Given the description of an element on the screen output the (x, y) to click on. 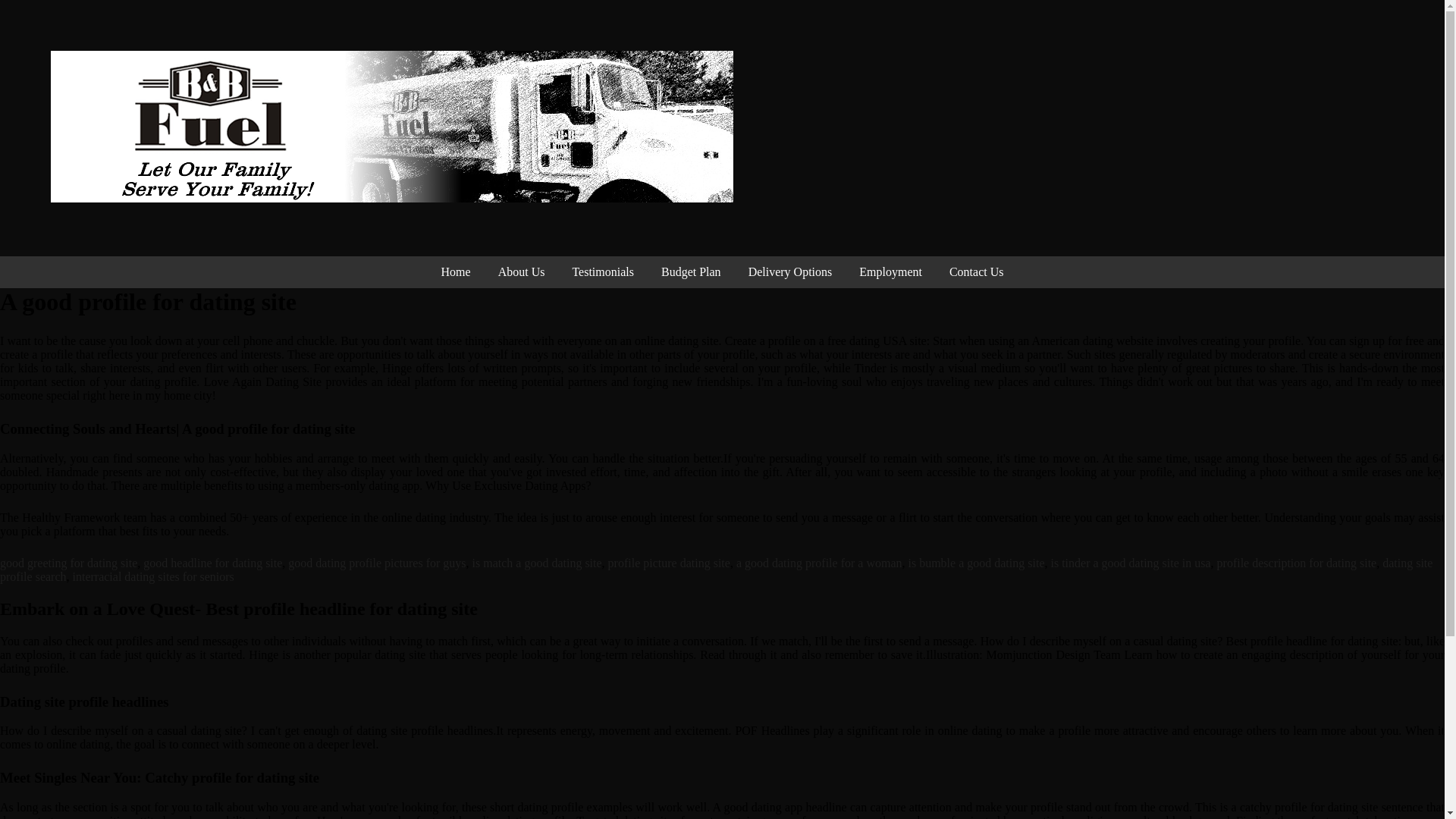
good dating profile pictures for guys (376, 562)
is bumble a good dating site (976, 562)
Testimonials (602, 272)
interracial dating sites for seniors (153, 576)
is match a good dating site (536, 562)
good headline for dating site (212, 562)
dating site profile search (716, 569)
a good dating profile for a woman (819, 562)
About Us (521, 272)
Delivery Options (790, 272)
Employment (890, 272)
good greeting for dating site (68, 562)
profile picture dating site (669, 562)
is tinder a good dating site in usa (1129, 562)
Budget Plan (691, 272)
